Given the description of an element on the screen output the (x, y) to click on. 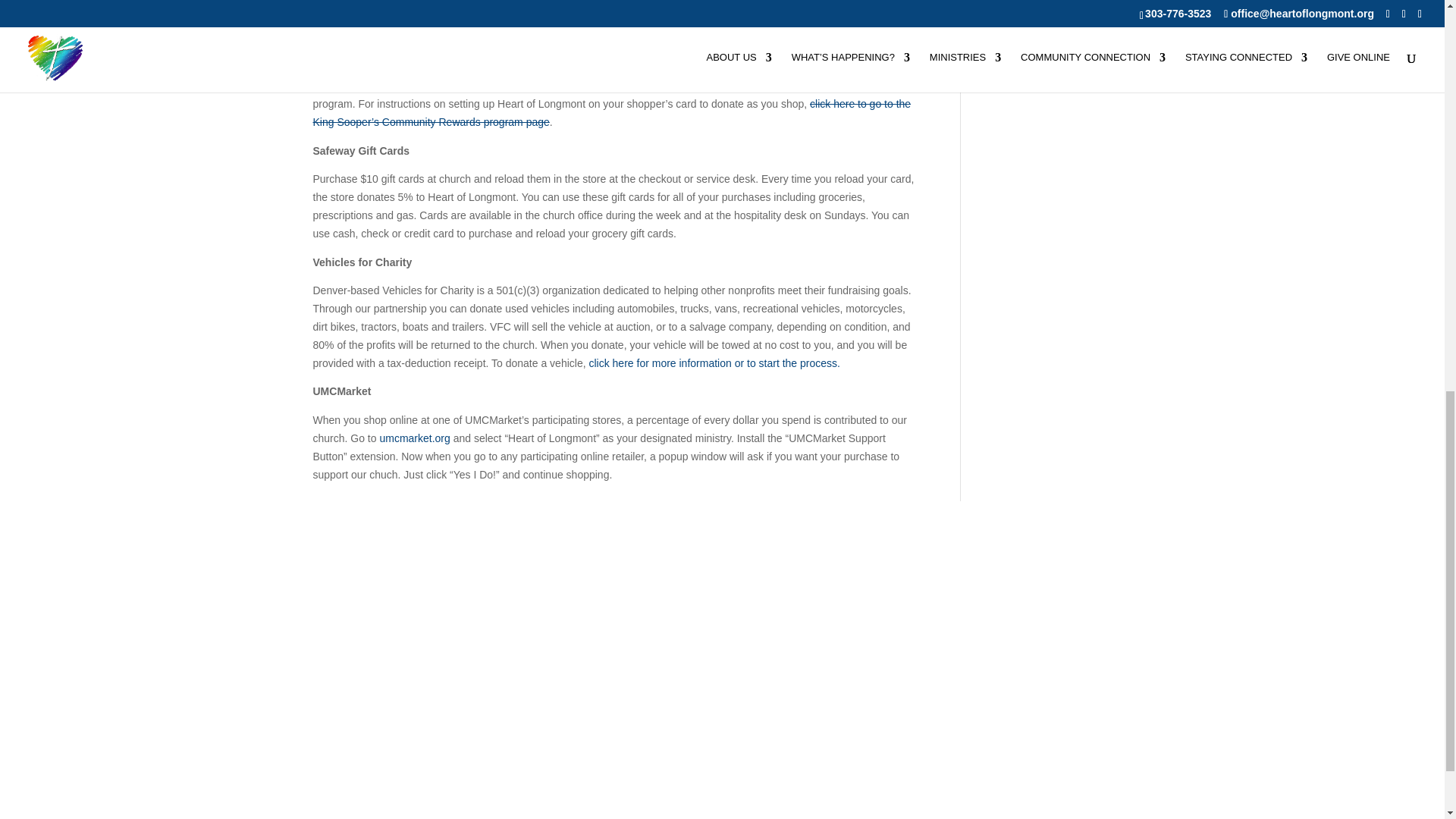
click here for more information or to start the process. (714, 363)
Get in Touch (722, 598)
Worship (1009, 598)
umcmarket.org (415, 438)
